Given the description of an element on the screen output the (x, y) to click on. 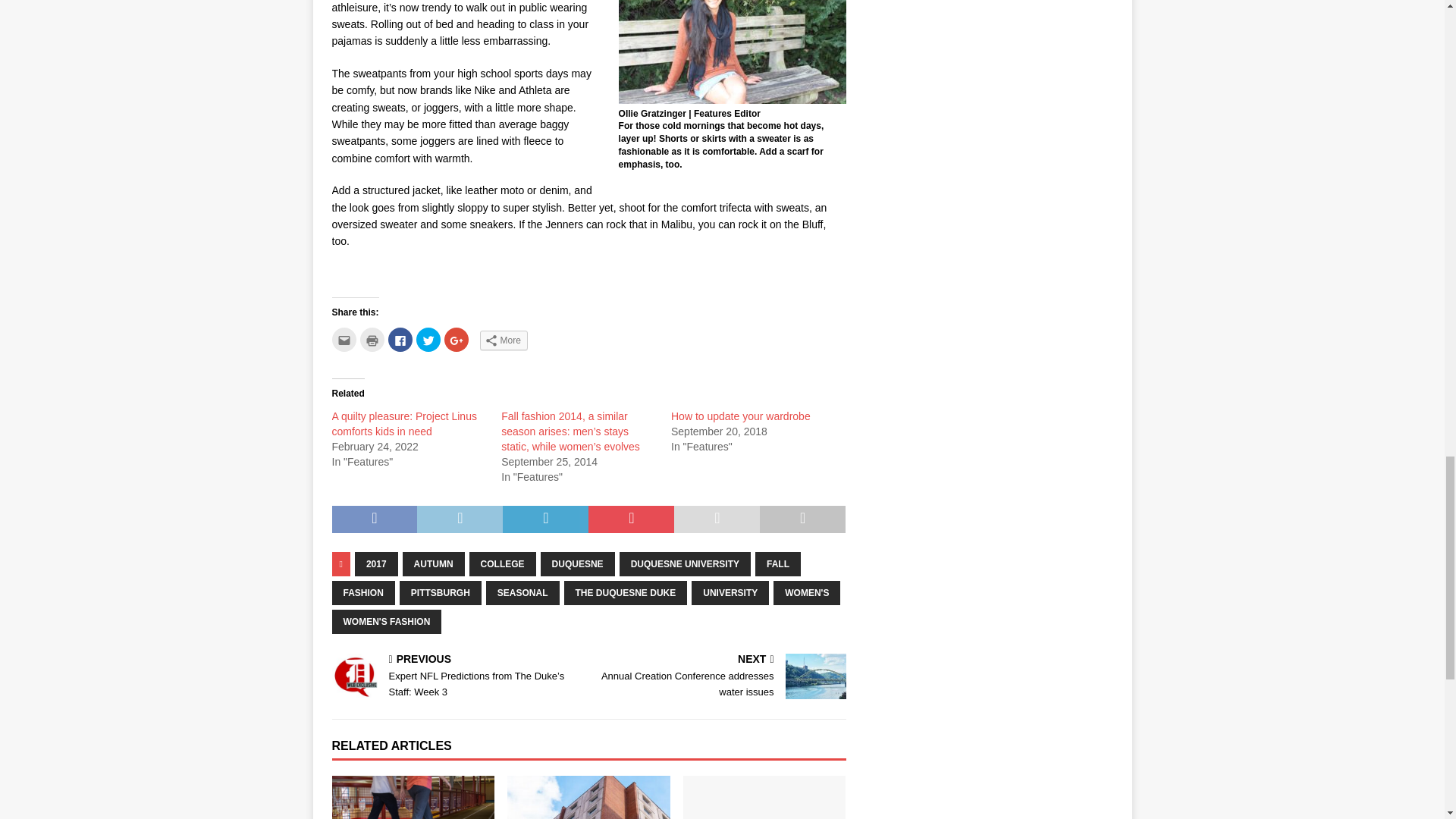
Click to share on Twitter (426, 339)
Click to share on Facebook (400, 339)
Click to email this to a friend (343, 339)
Click to print (371, 339)
